Given the description of an element on the screen output the (x, y) to click on. 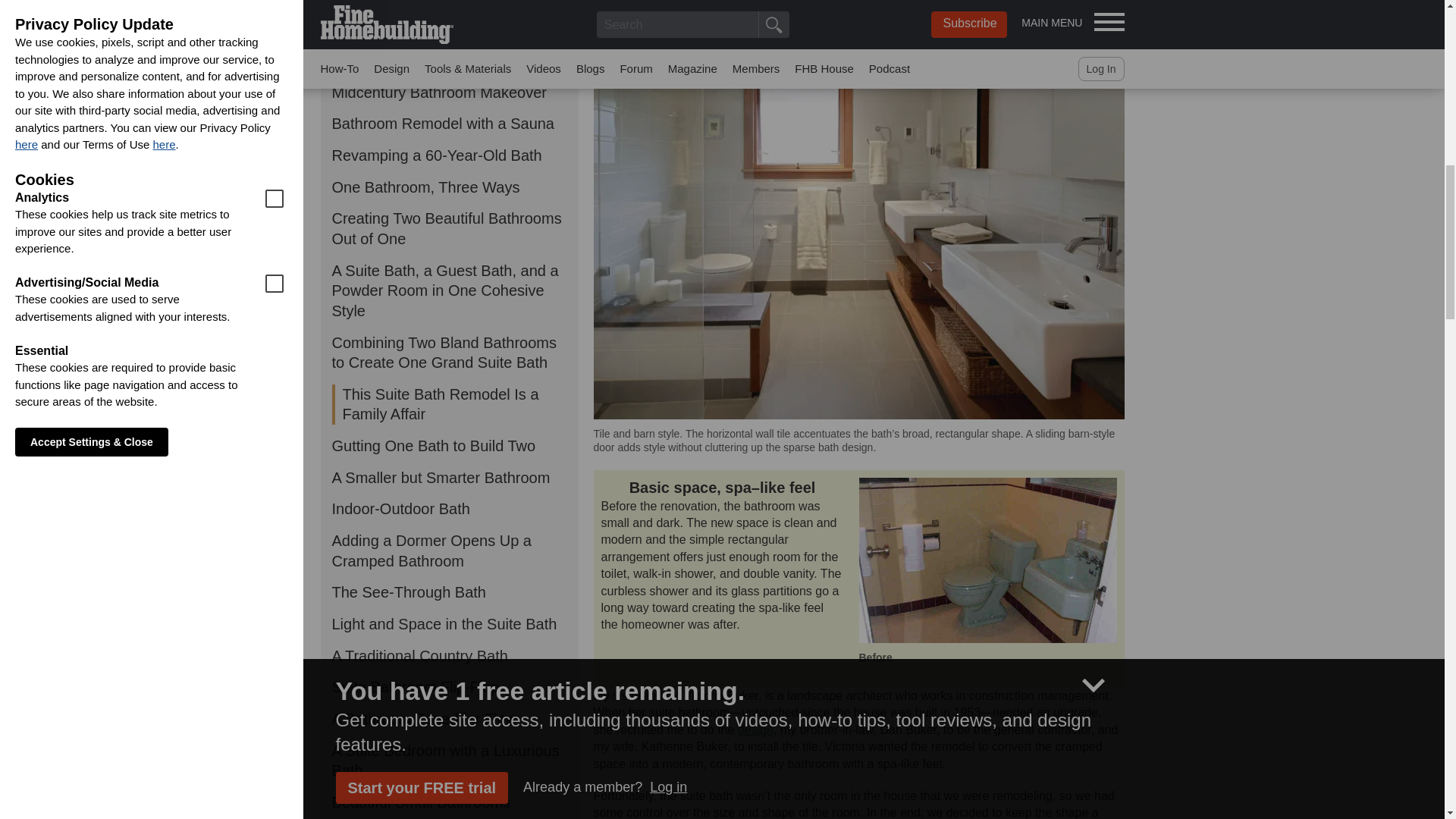
design (755, 729)
